Given the description of an element on the screen output the (x, y) to click on. 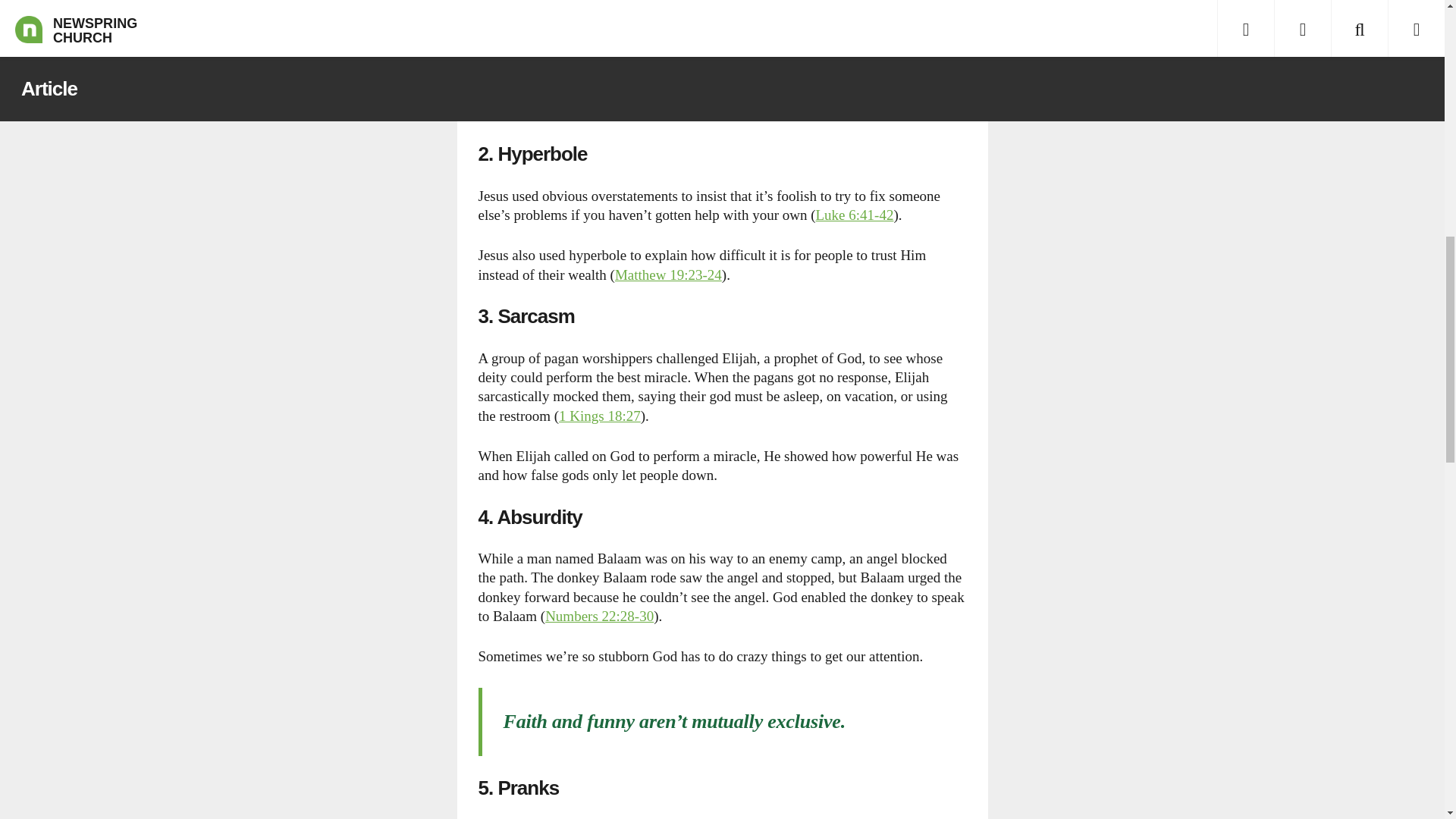
Luke 6:41-42 (854, 214)
Matthew 19:23-24 (668, 274)
Numbers 22:28-30 (598, 616)
1 Kings 18:27 (599, 415)
Bible Gateway (599, 415)
Bible Gateway (854, 214)
Bible Gateway (598, 616)
Bible Gateway (668, 274)
